Given the description of an element on the screen output the (x, y) to click on. 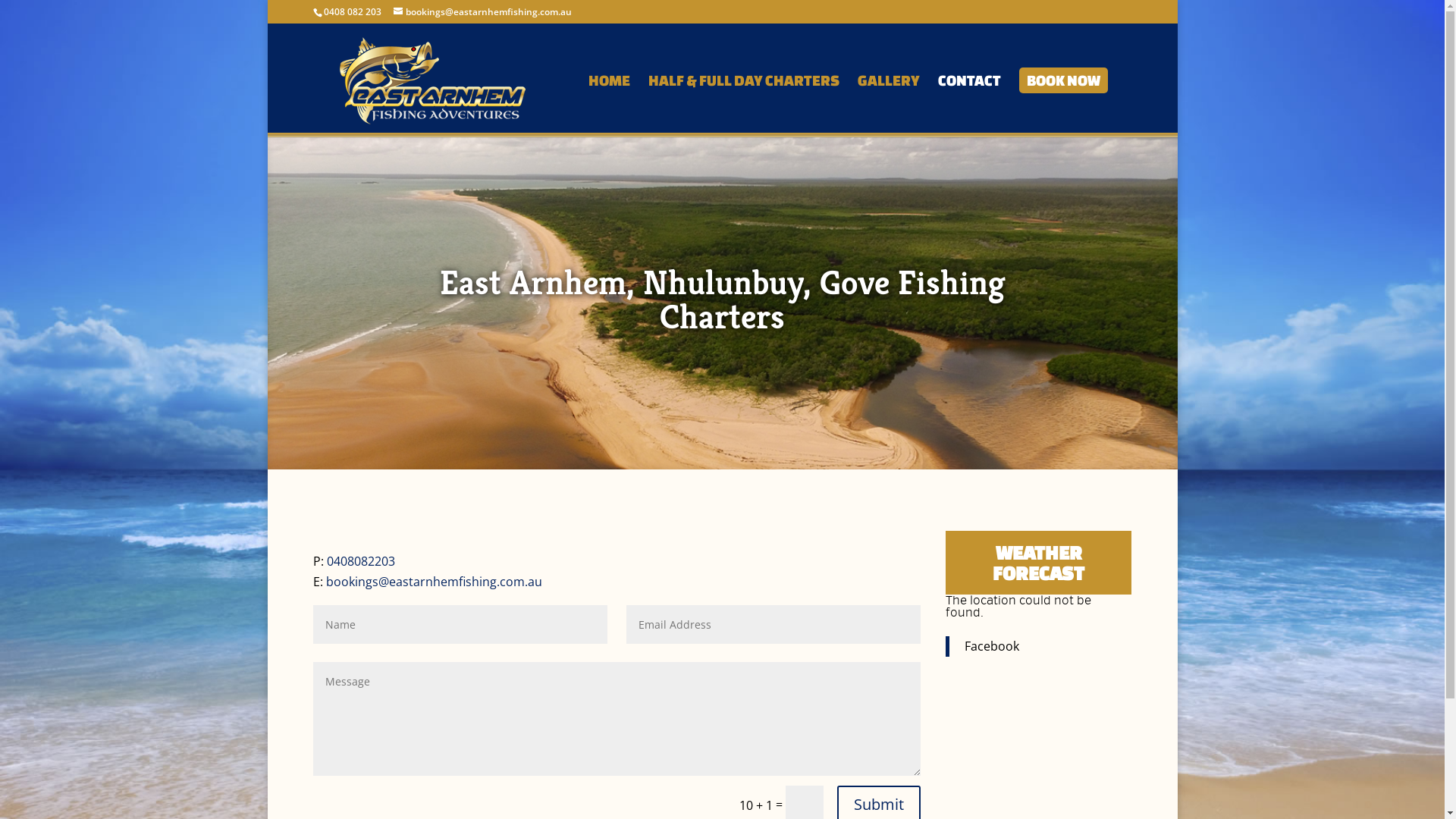
CONTACT Element type: text (968, 102)
HOME Element type: text (609, 102)
bookings@eastarnhemfishing.com.au Element type: text (434, 581)
HALF & FULL DAY CHARTERS Element type: text (742, 102)
BOOK NOW Element type: text (1063, 102)
GALLERY Element type: text (887, 102)
bookings@eastarnhemfishing.com.au Element type: text (481, 11)
Facebook Element type: text (991, 645)
0408082203 Element type: text (360, 560)
